Given the description of an element on the screen output the (x, y) to click on. 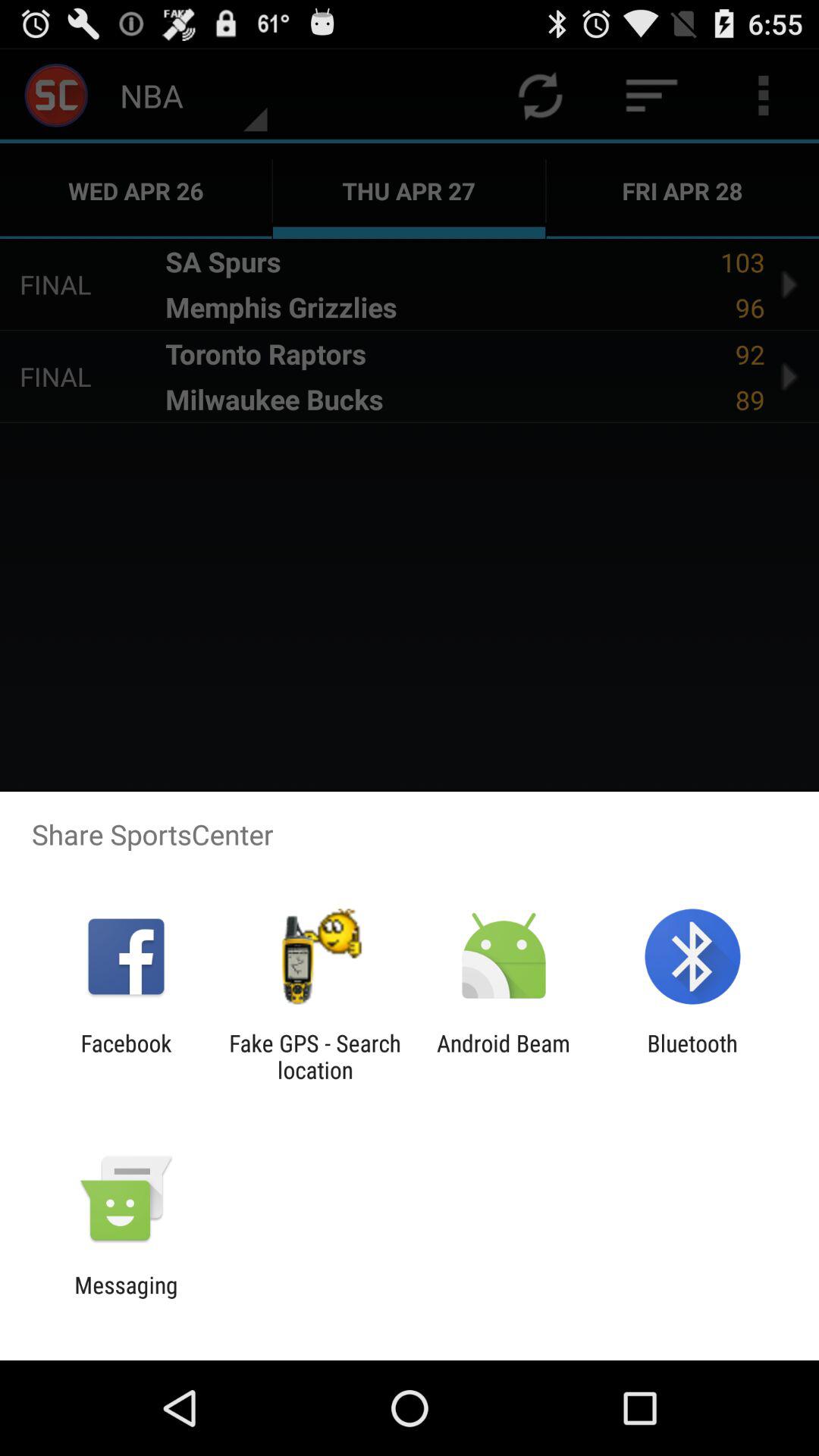
flip until the messaging (126, 1298)
